Given the description of an element on the screen output the (x, y) to click on. 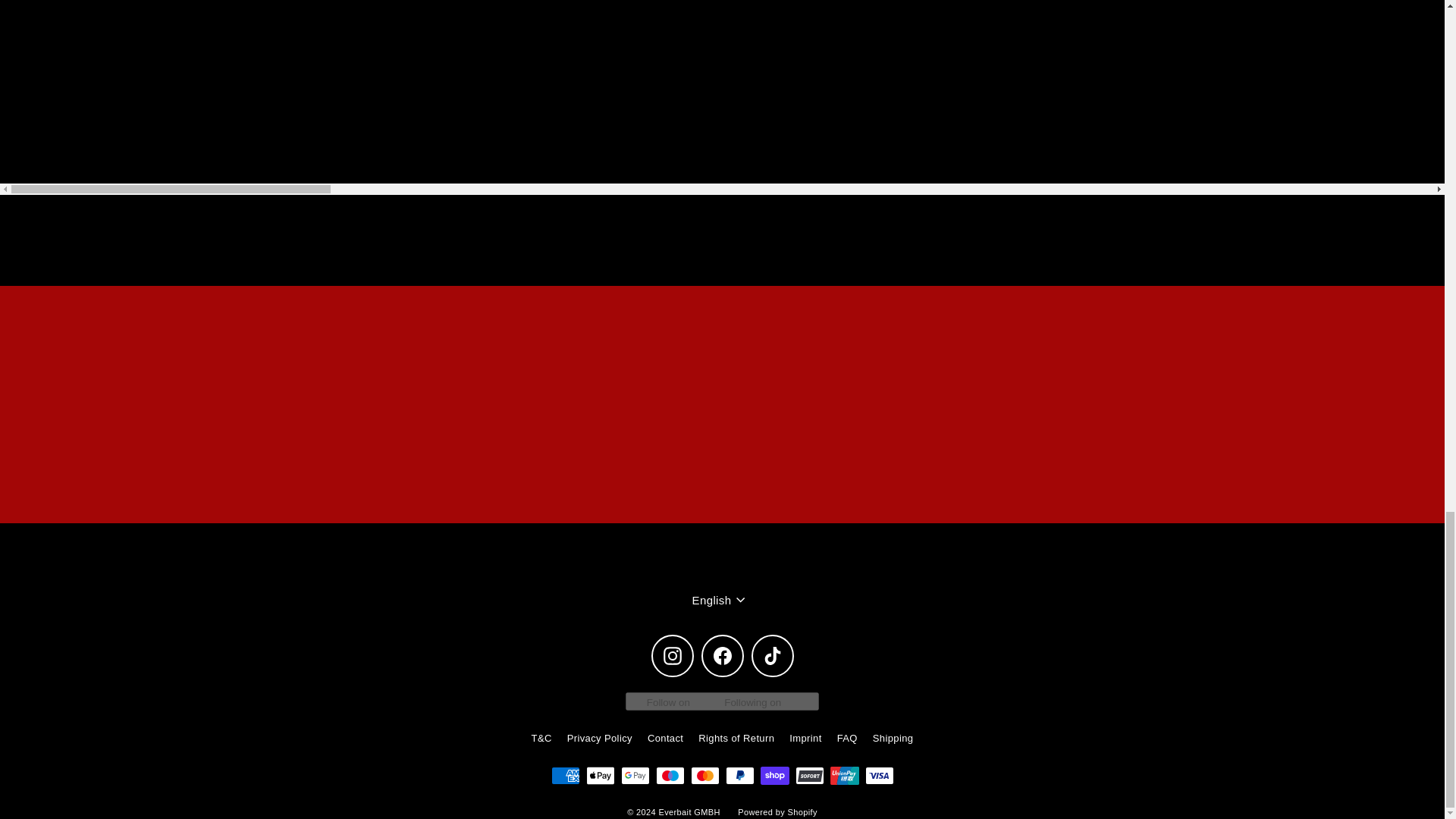
Maestro (669, 774)
Everbait on Facebook (721, 655)
Mastercard (704, 774)
Union Pay (844, 774)
Apple Pay (599, 774)
PayPal (739, 774)
instagram (671, 656)
Google Pay (634, 774)
Everbait on Instagram (671, 655)
Everbait on TikTok (772, 655)
